Given the description of an element on the screen output the (x, y) to click on. 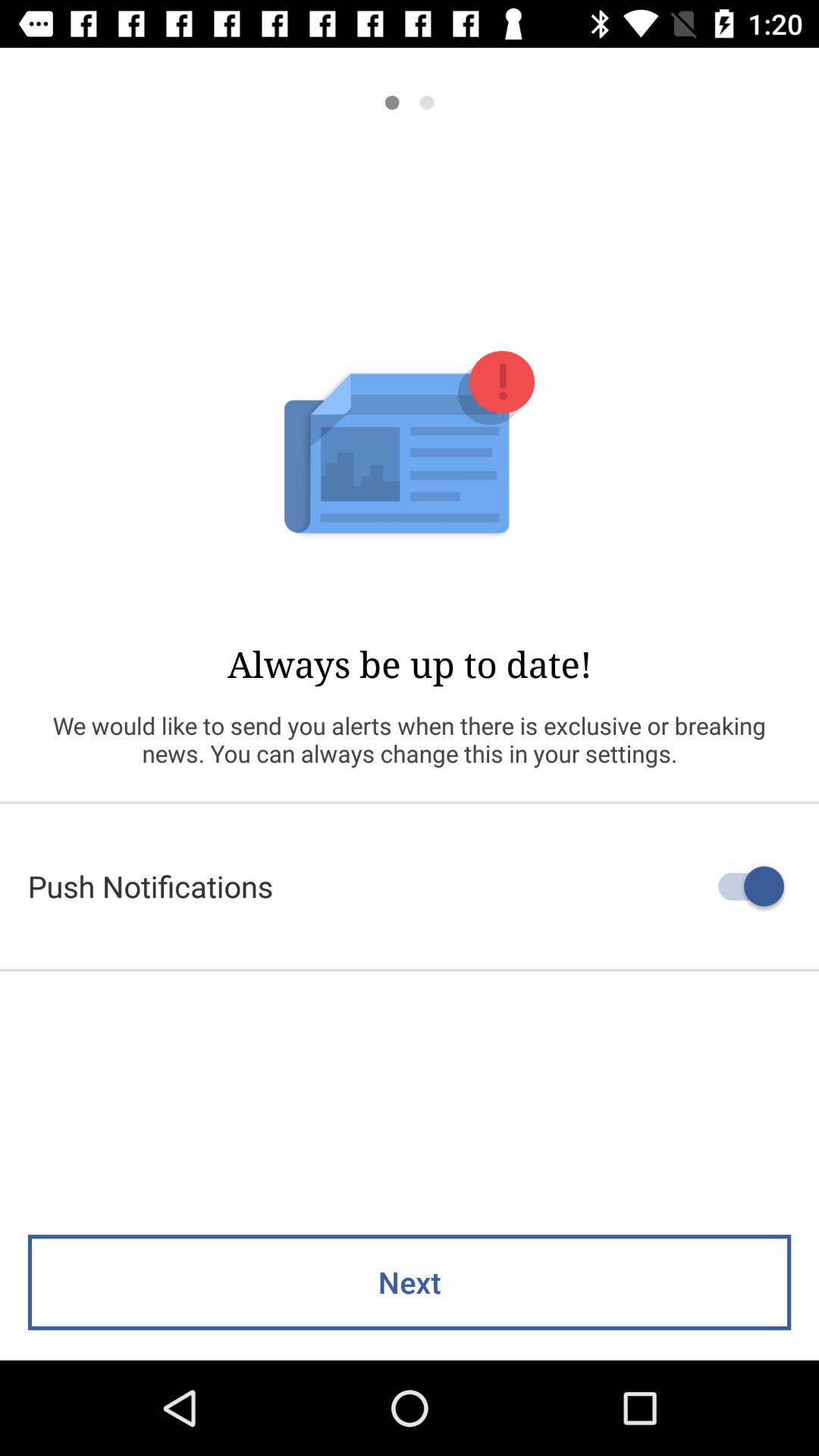
scroll until next (409, 1282)
